Given the description of an element on the screen output the (x, y) to click on. 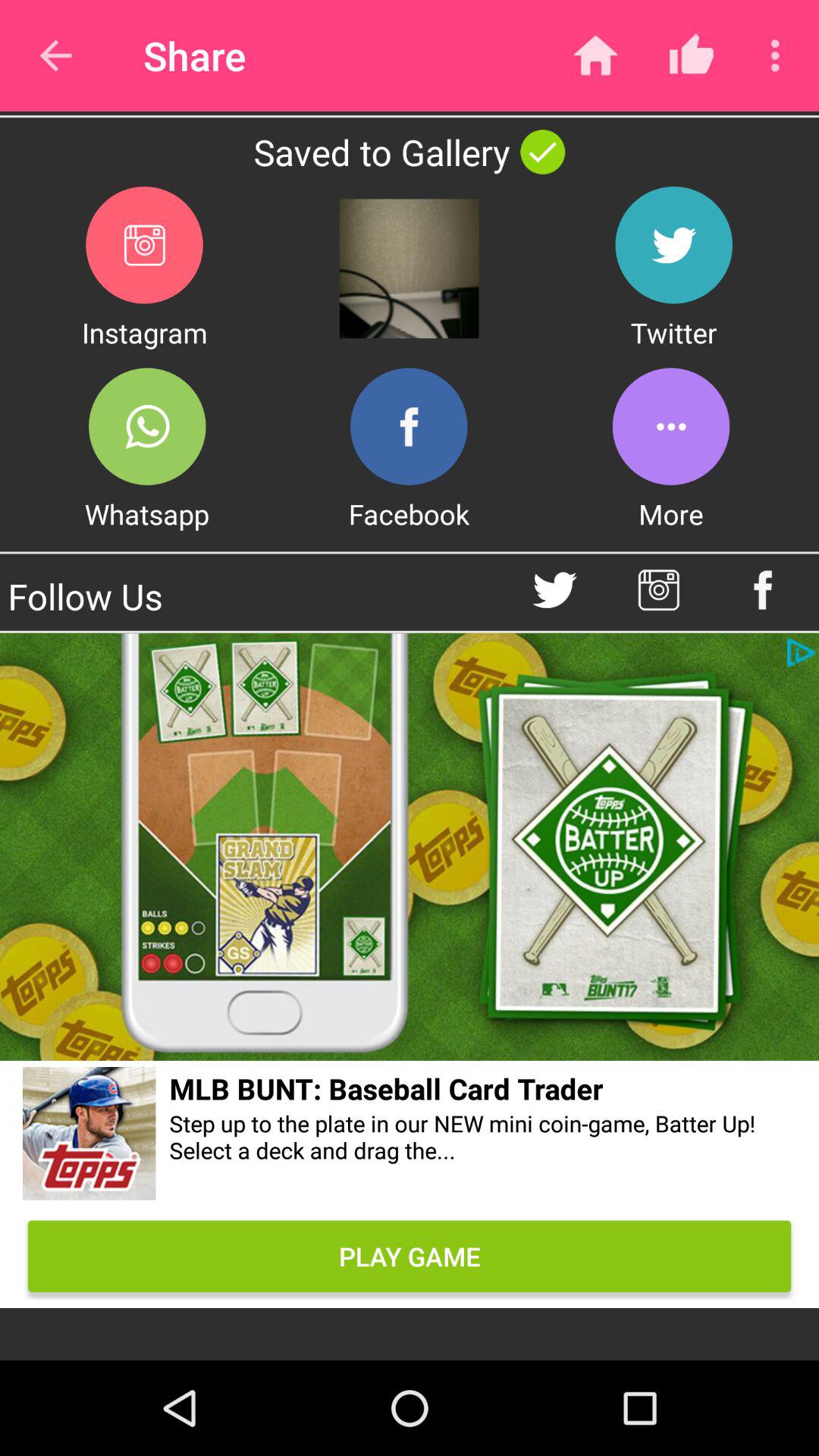
instagram (144, 244)
